Given the description of an element on the screen output the (x, y) to click on. 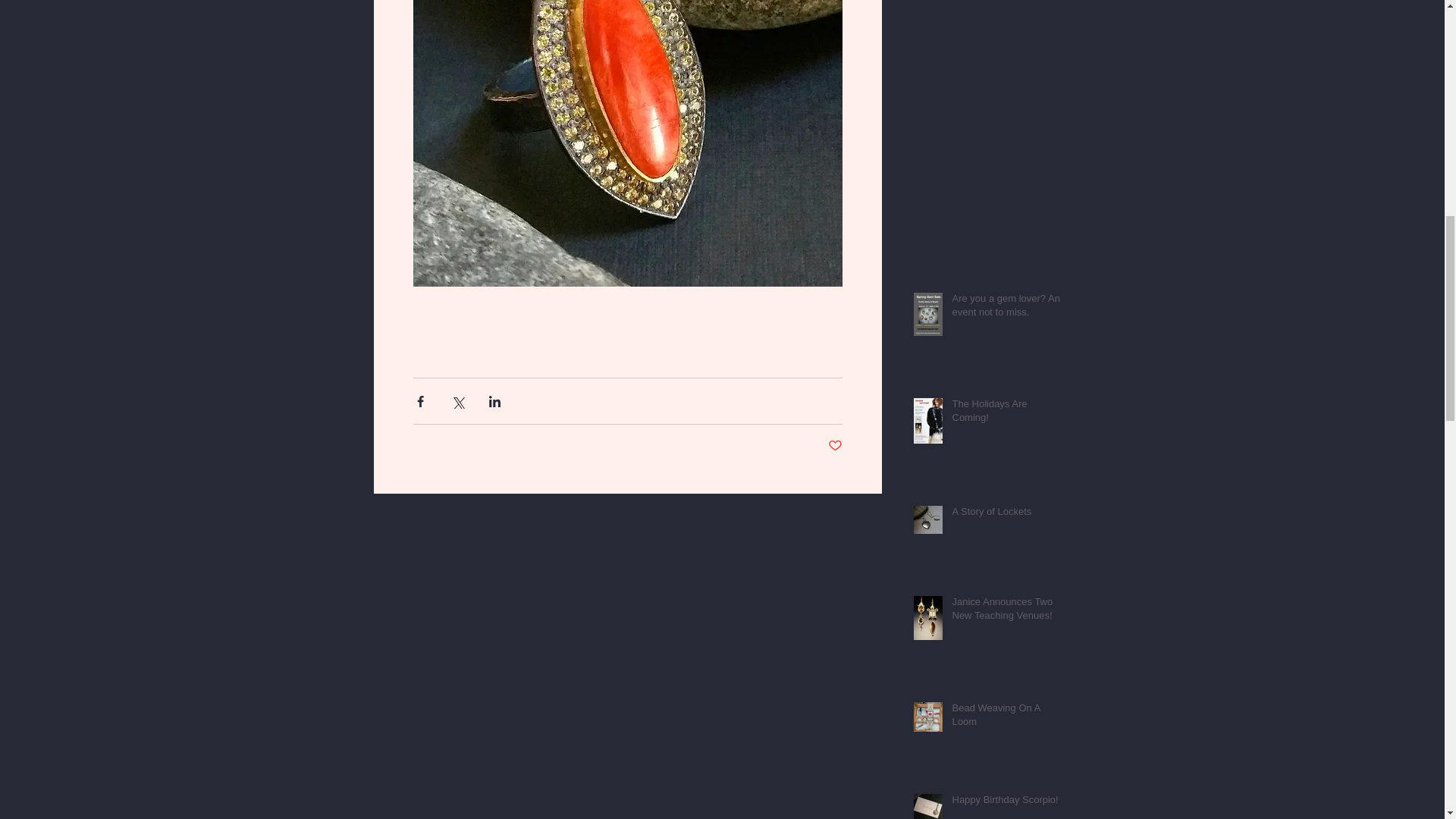
A Story of Lockets (1006, 514)
Happy Birthday Scorpio! (1006, 803)
The Holidays Are Coming! (1006, 413)
Post not marked as liked (835, 446)
Are you a gem lover? An event not to miss. (1006, 308)
Bead Weaving On A Loom (1006, 717)
Janice Announces Two New Teaching Venues! (1006, 611)
